Given the description of an element on the screen output the (x, y) to click on. 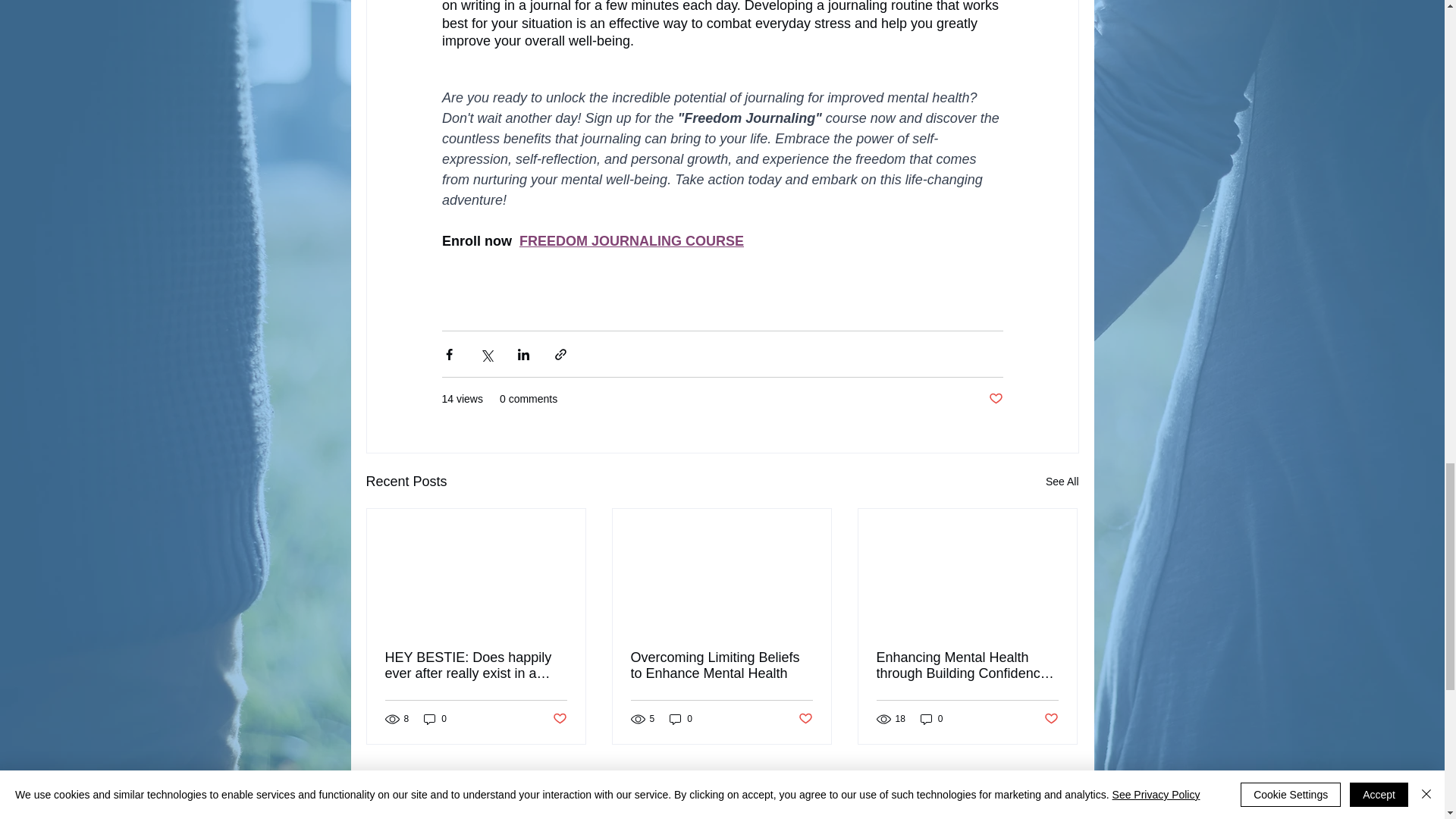
Post not marked as liked (558, 719)
FREEDOM JOURNALING COURSE (630, 240)
Post not marked as liked (995, 399)
See All (1061, 481)
0 (435, 718)
